Given the description of an element on the screen output the (x, y) to click on. 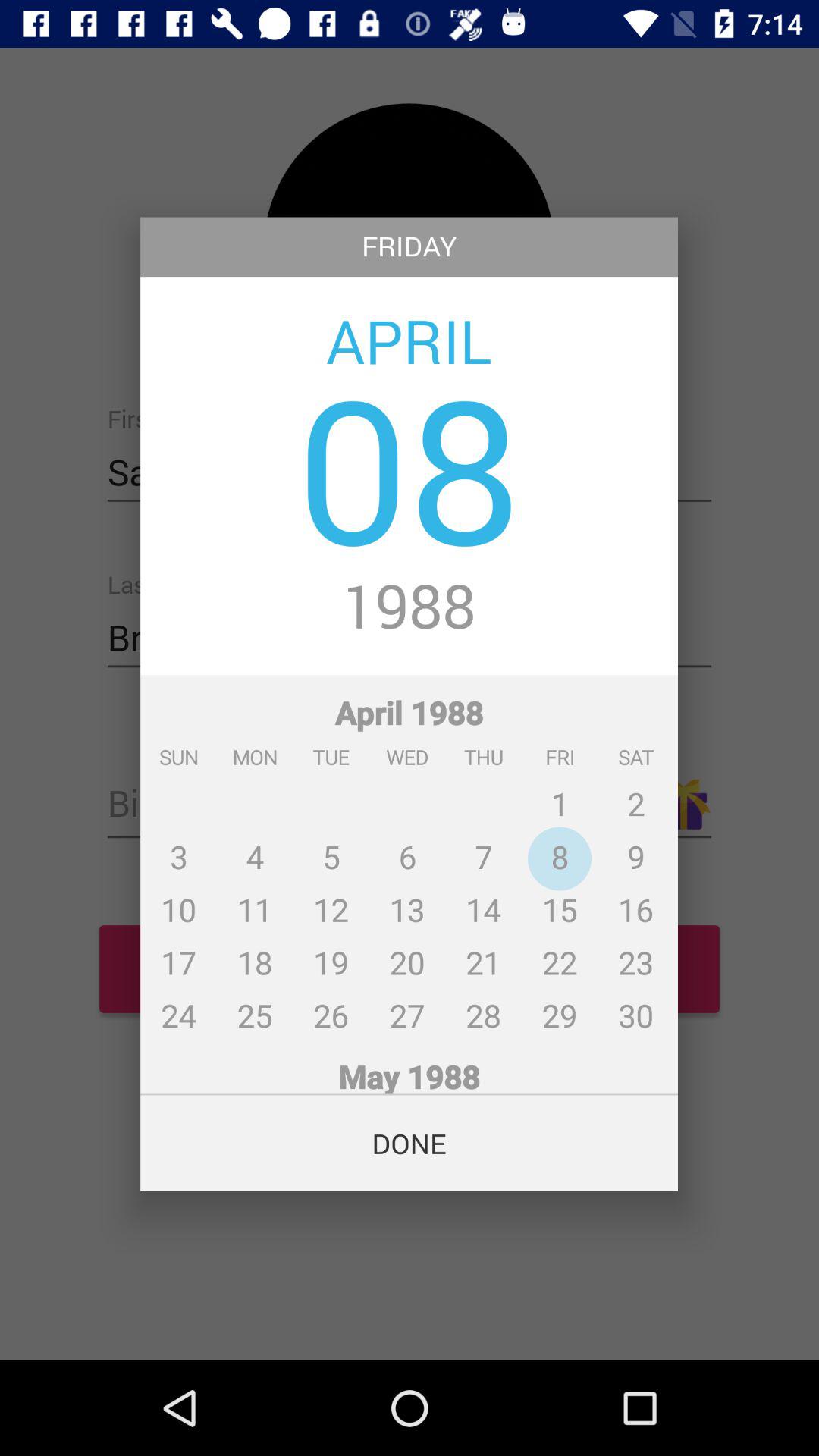
open the done icon (408, 1142)
